Given the description of an element on the screen output the (x, y) to click on. 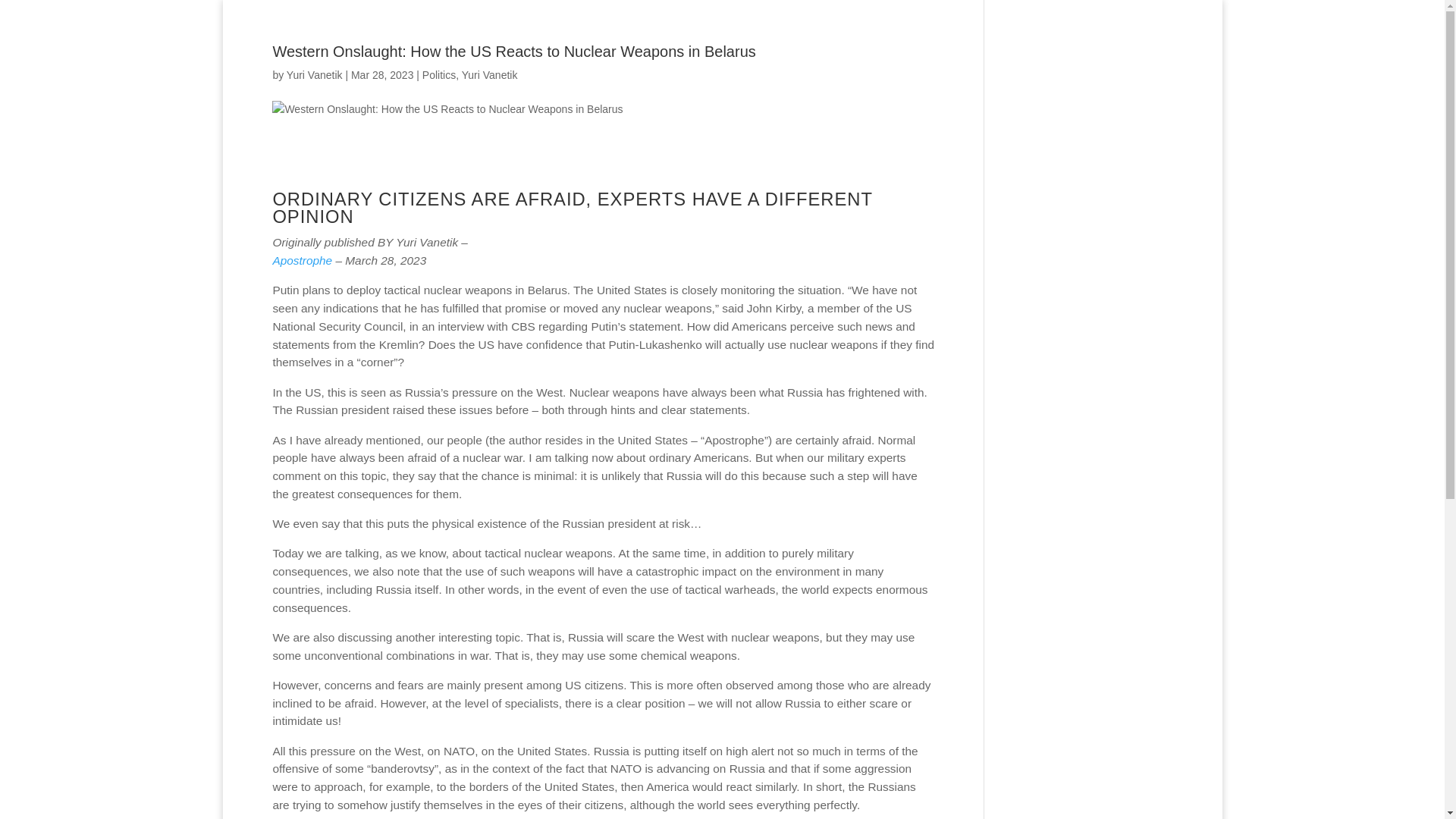
Posts by Yuri Vanetik (314, 74)
Yuri Vanetik (489, 74)
Apostrophe (369, 269)
Politics (438, 74)
Yuri Vanetik (314, 74)
